Given the description of an element on the screen output the (x, y) to click on. 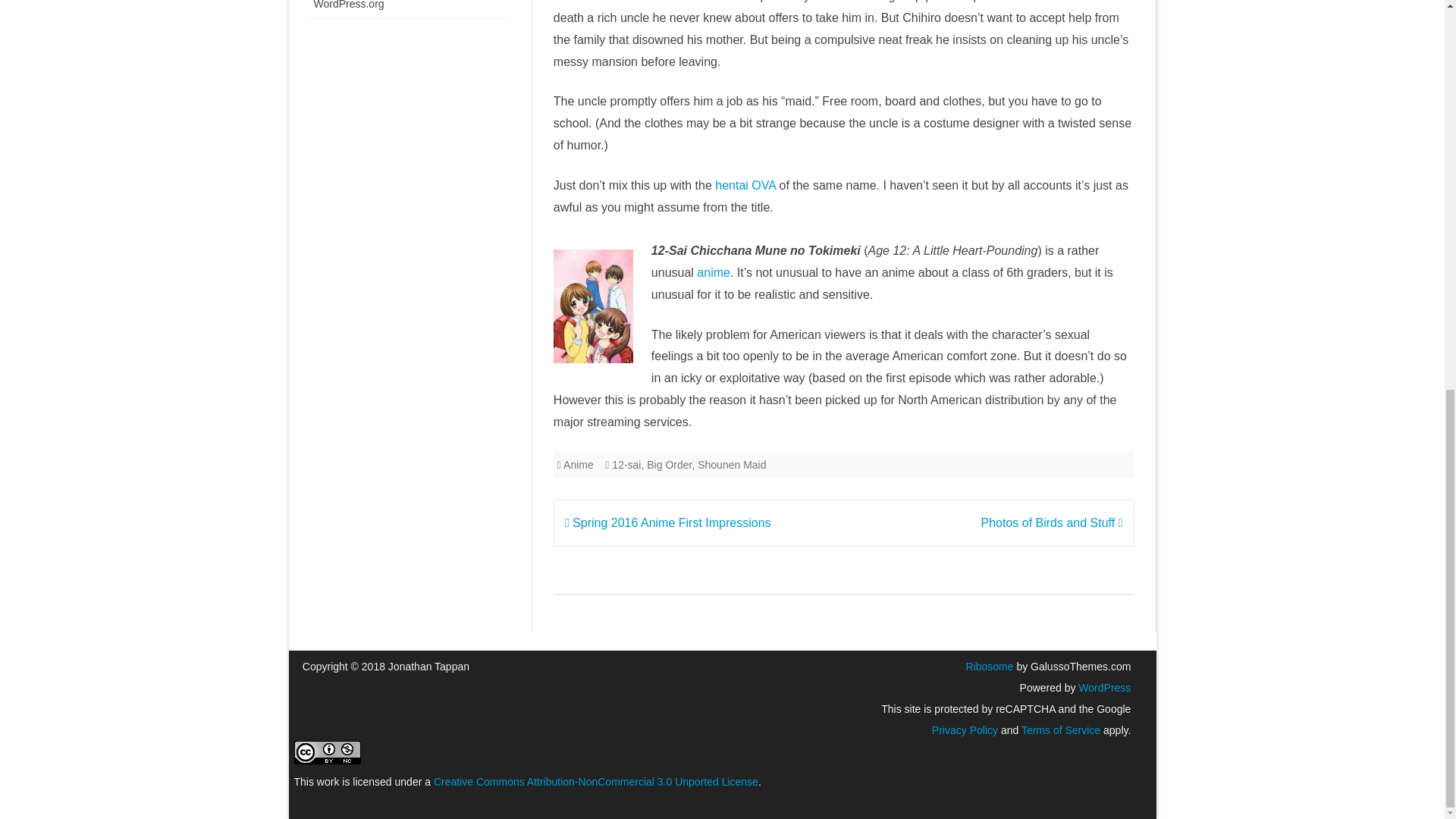
hentai (731, 185)
Shounen Maid (731, 464)
anime (713, 272)
Big Order (668, 464)
Spring 2016 Anime First Impressions (667, 522)
12-sai (625, 464)
Photos of Birds and Stuff (1051, 522)
Anime (578, 464)
Semantic Personal Publishing Platform (1103, 687)
OVA (763, 185)
